Given the description of an element on the screen output the (x, y) to click on. 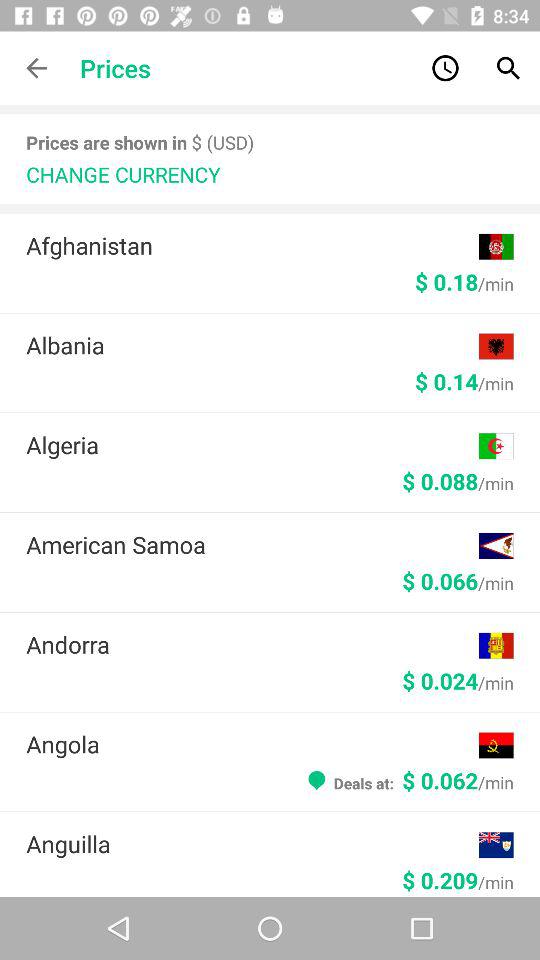
press the angola (252, 744)
